Given the description of an element on the screen output the (x, y) to click on. 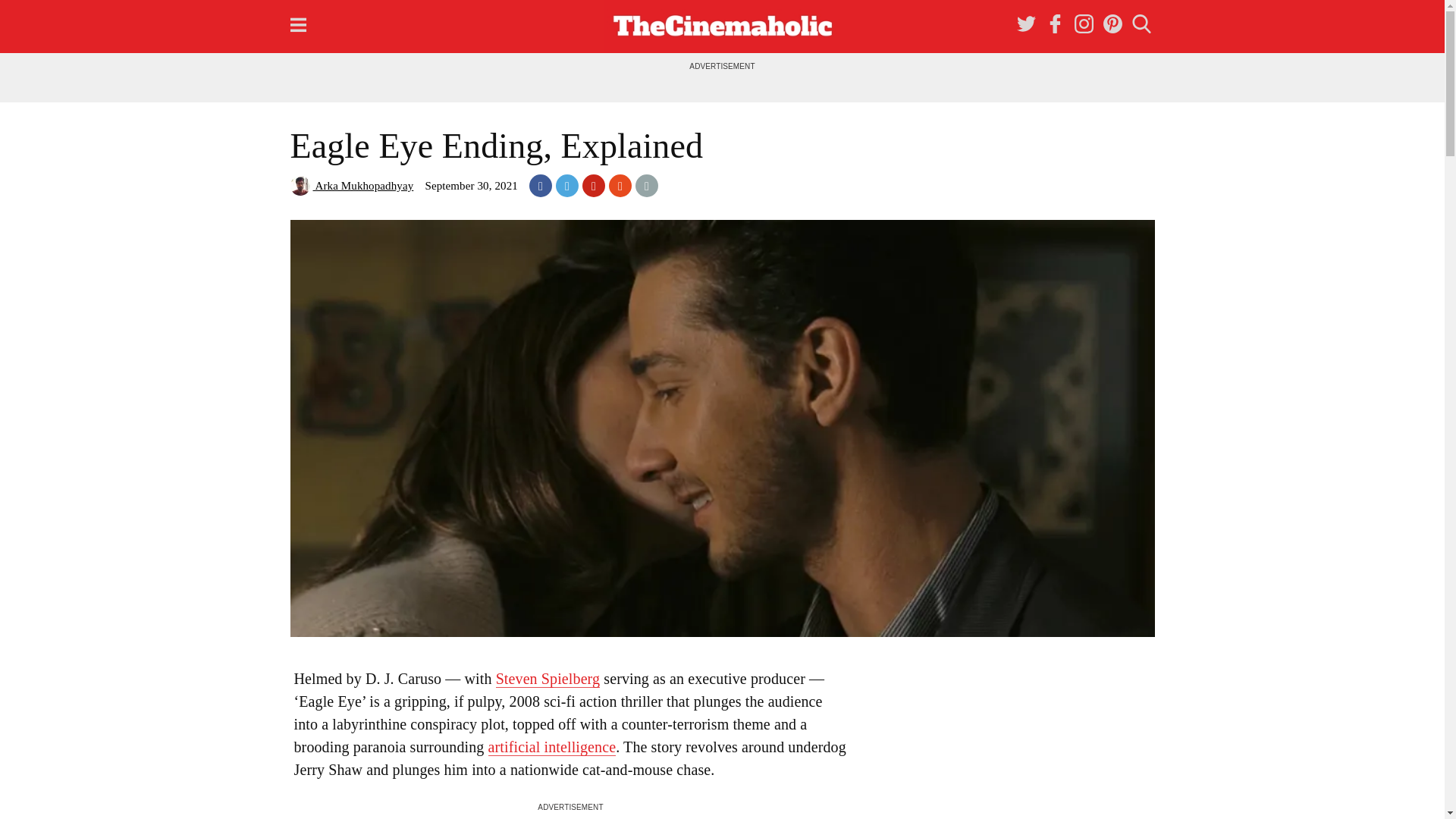
Arka Mukhopadhyay (351, 185)
Steven Spielberg (547, 678)
artificial intelligence (551, 746)
